Given the description of an element on the screen output the (x, y) to click on. 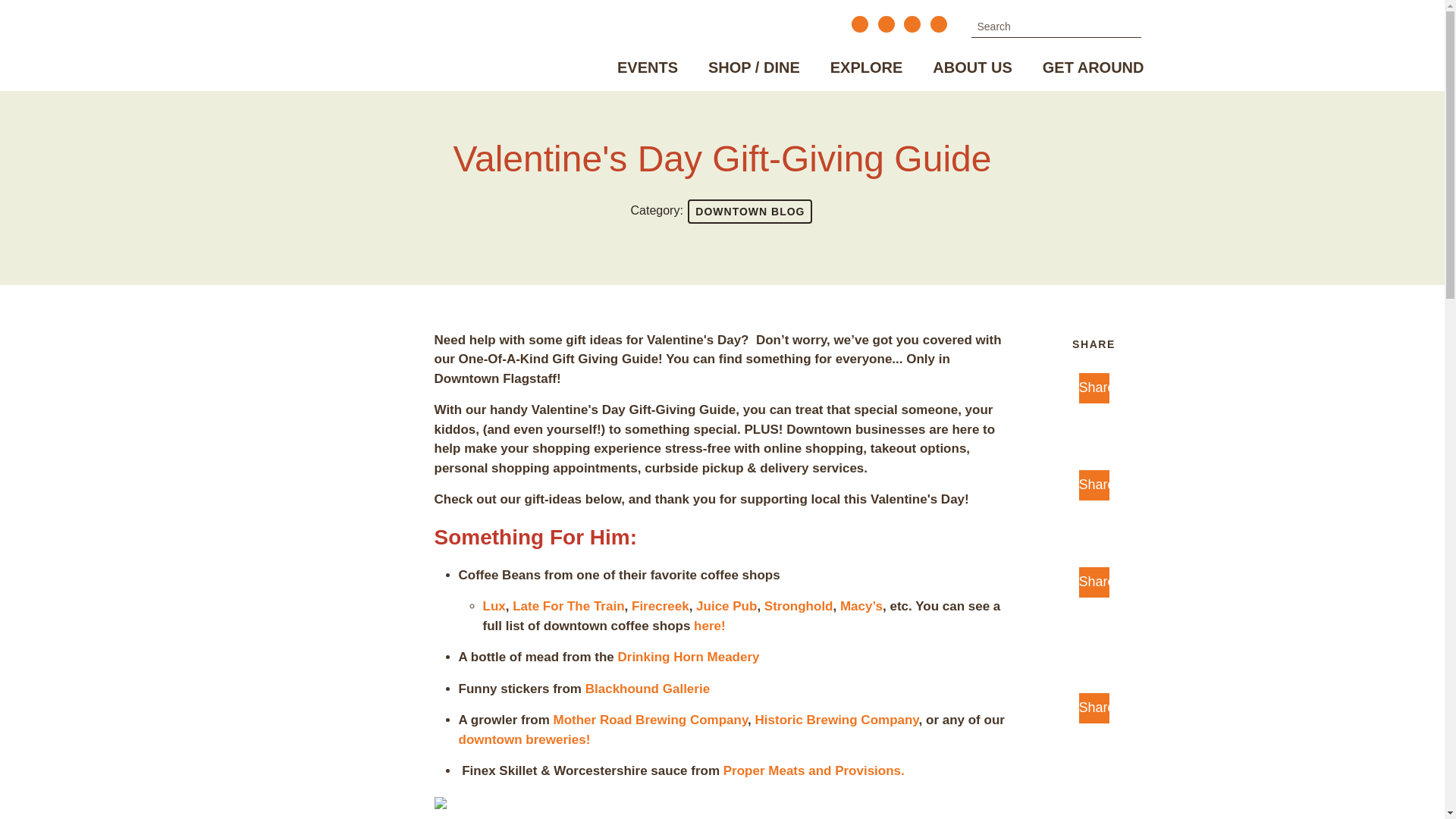
EXPLORE (866, 69)
EVENTS (647, 69)
ABOUT US (971, 69)
